Given the description of an element on the screen output the (x, y) to click on. 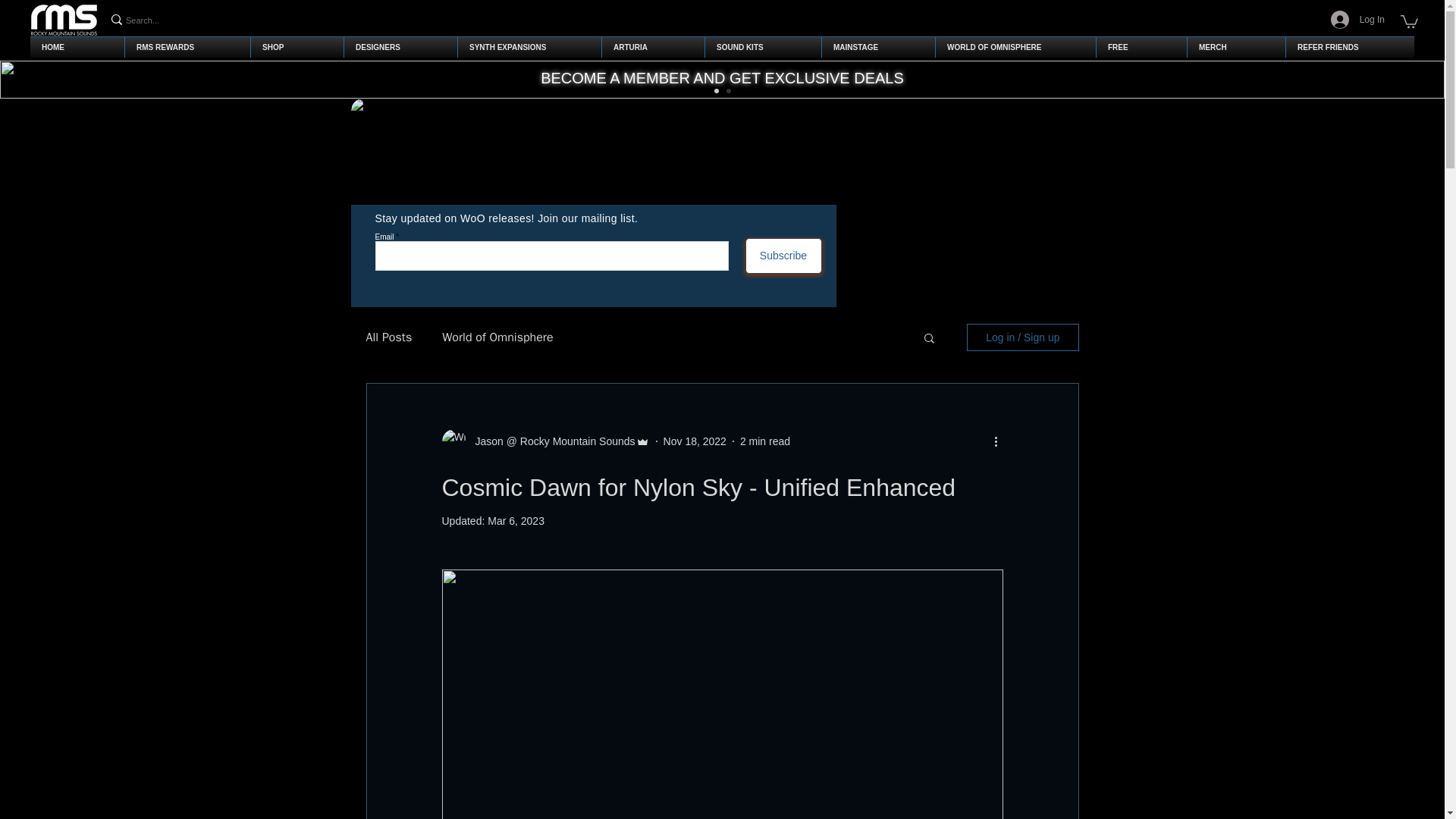
HOME (76, 46)
RMS REWARDS (187, 46)
2 min read (764, 440)
Log In (1357, 19)
SHOP (296, 46)
Mar 6, 2023 (515, 521)
Nov 18, 2022 (694, 440)
